Given the description of an element on the screen output the (x, y) to click on. 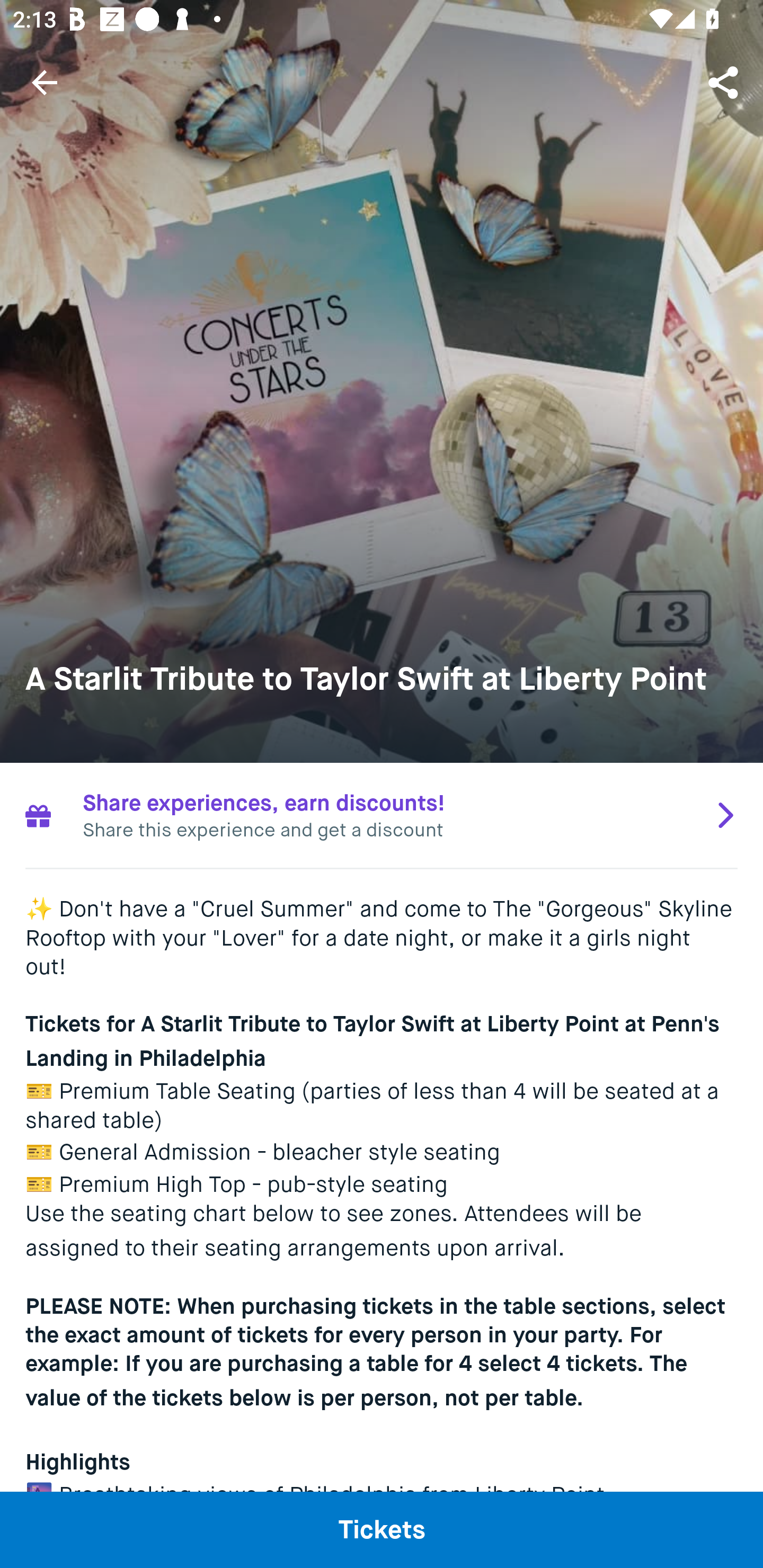
Navigate up (44, 82)
Share (724, 81)
Tickets (381, 1529)
